Given the description of an element on the screen output the (x, y) to click on. 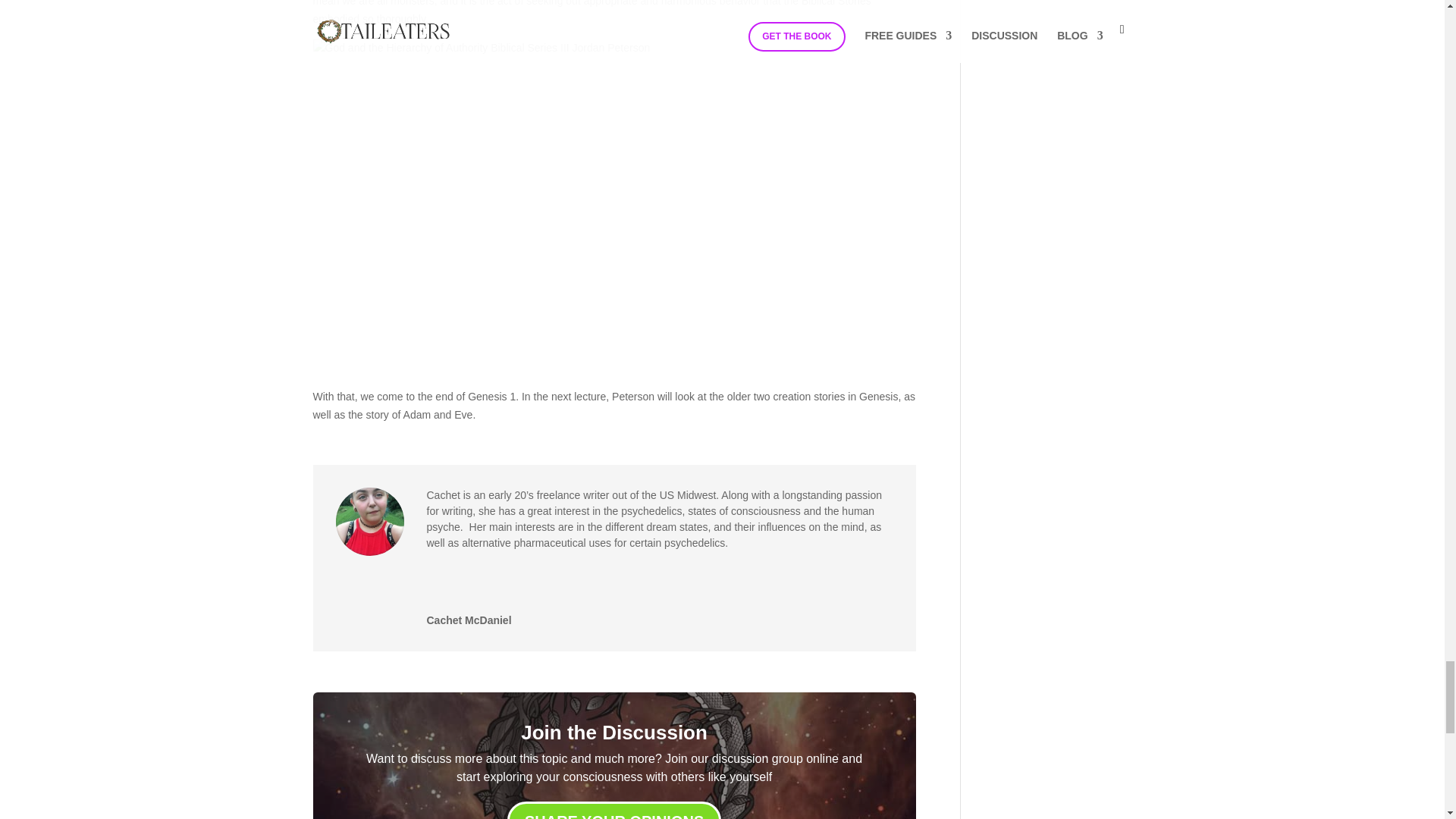
SHARE YOUR OPINIONS (613, 810)
